Given the description of an element on the screen output the (x, y) to click on. 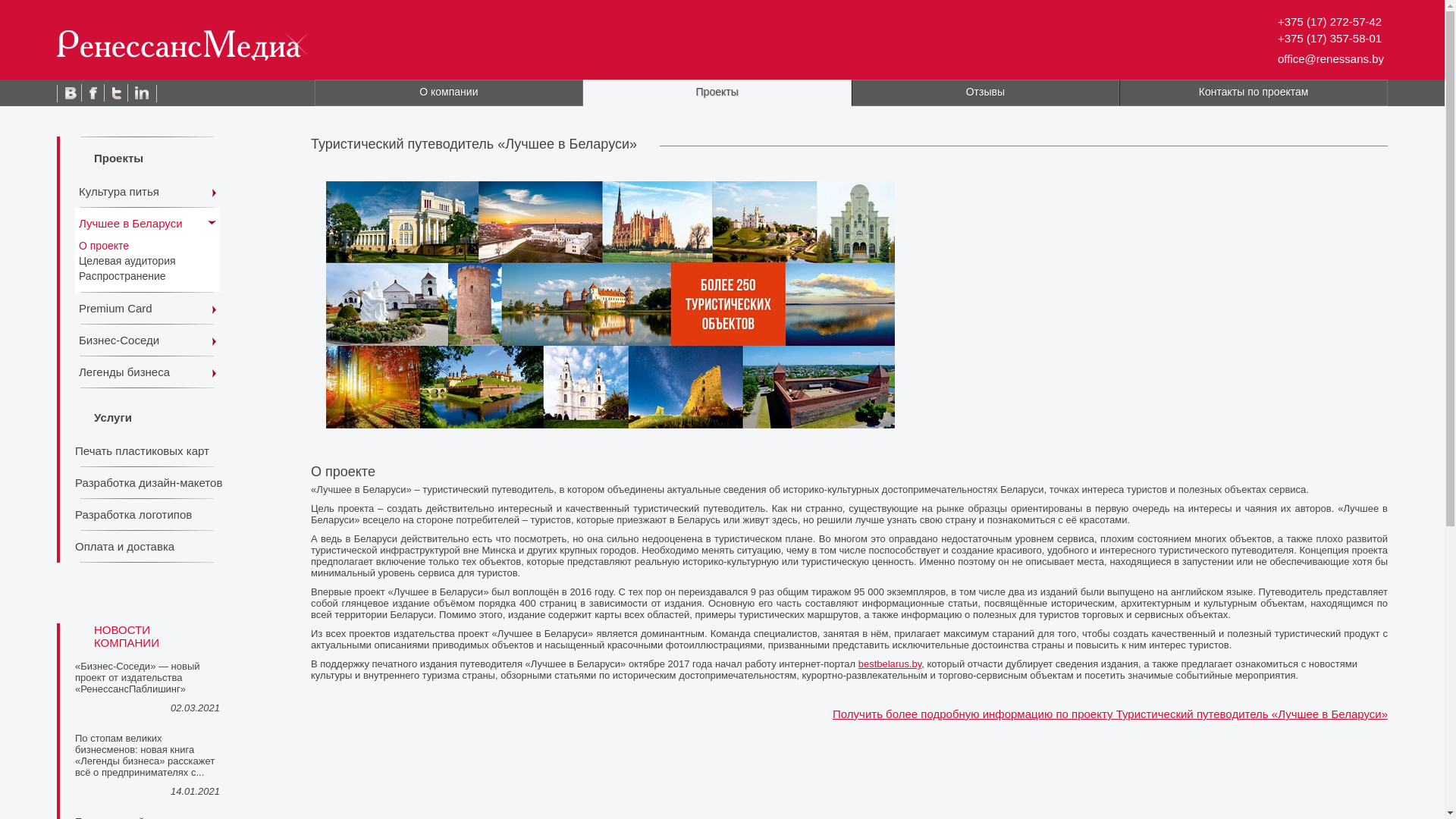
Premium Card Element type: text (147, 308)
bestbelarus.by Element type: text (890, 663)
